Given the description of an element on the screen output the (x, y) to click on. 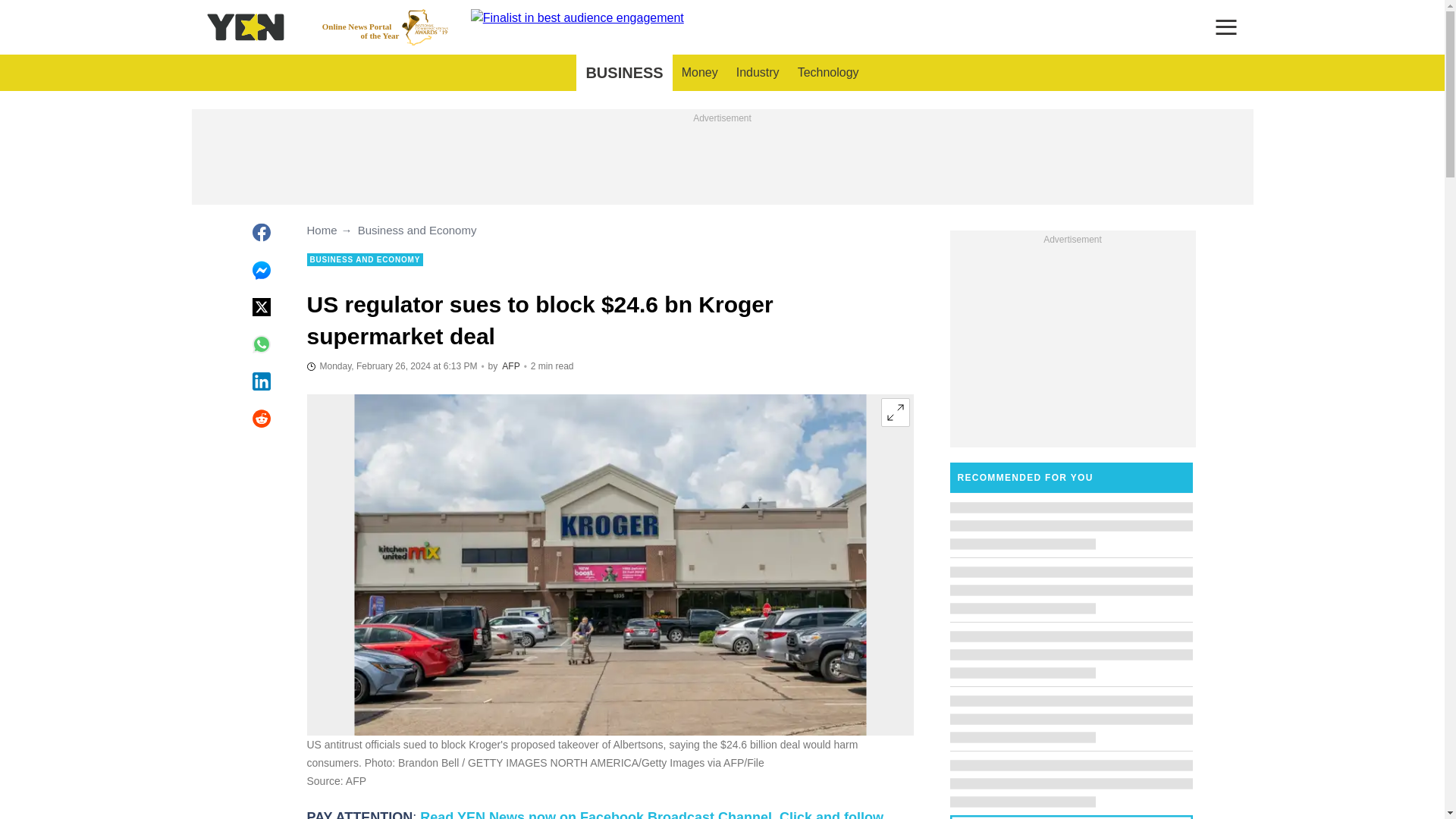
Industry (757, 72)
Money (699, 72)
Technology (828, 72)
FB Broadcast Channel (594, 814)
2024-02-26T18:13:05Z (391, 366)
Expand image (895, 412)
Author page (510, 366)
BUSINESS (623, 72)
